Given the description of an element on the screen output the (x, y) to click on. 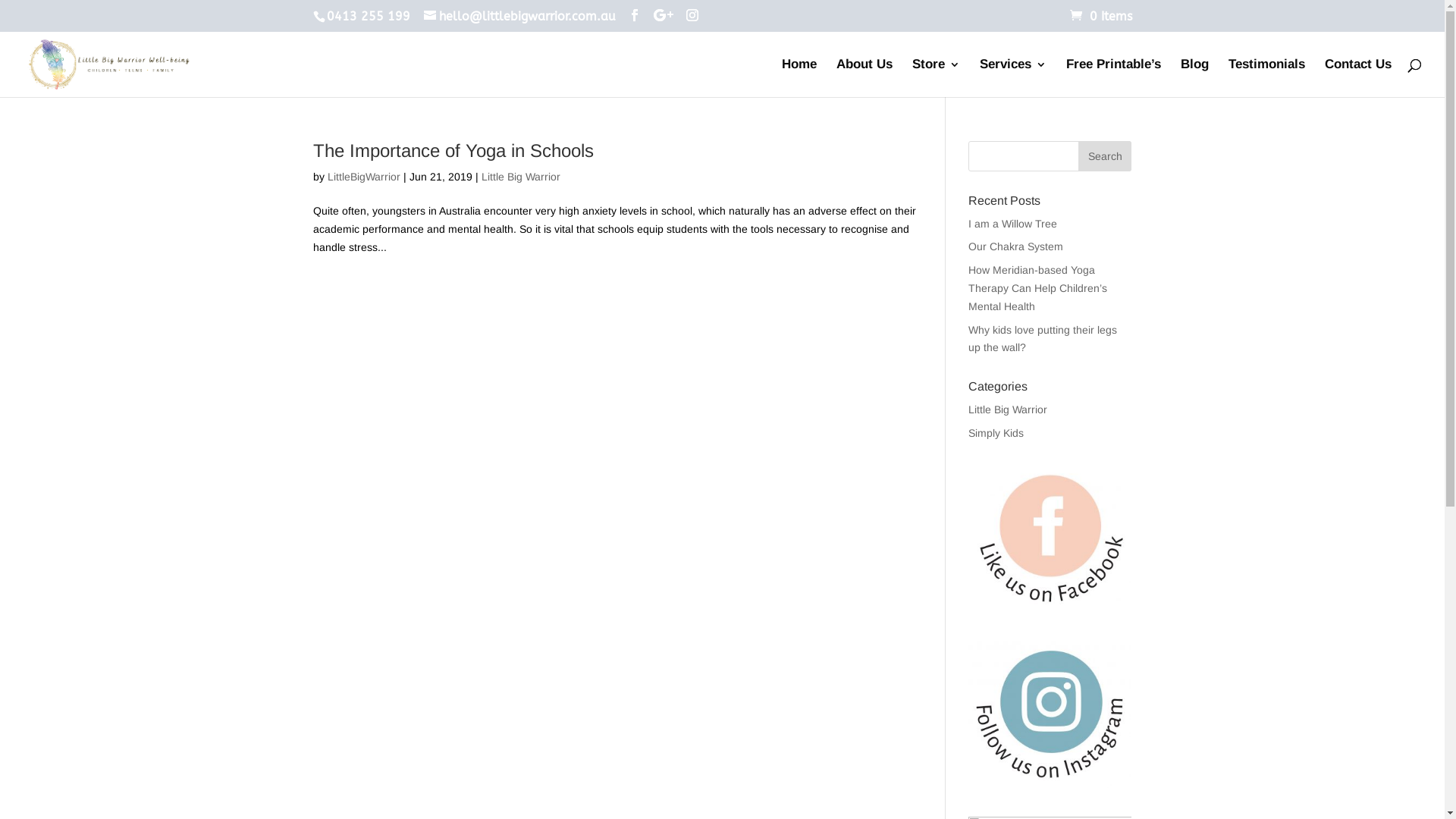
0 Items Element type: text (1100, 16)
Why kids love putting their legs up the wall? Element type: text (1042, 338)
hello@littlebigwarrior.com.au Element type: text (519, 16)
Our Chakra System Element type: text (1015, 246)
Little Big Warrior Element type: text (1007, 409)
Simply Kids Element type: text (995, 432)
Blog Element type: text (1194, 78)
LittleBigWarrior Element type: text (363, 176)
Store Element type: text (936, 78)
I am a Willow Tree Element type: text (1012, 223)
Little Big Warrior Element type: text (519, 176)
The Importance of Yoga in Schools Element type: text (452, 150)
About Us Element type: text (864, 78)
Testimonials Element type: text (1266, 78)
Contact Us Element type: text (1357, 78)
Home Element type: text (798, 78)
Search Element type: text (1104, 156)
Services Element type: text (1012, 78)
